Given the description of an element on the screen output the (x, y) to click on. 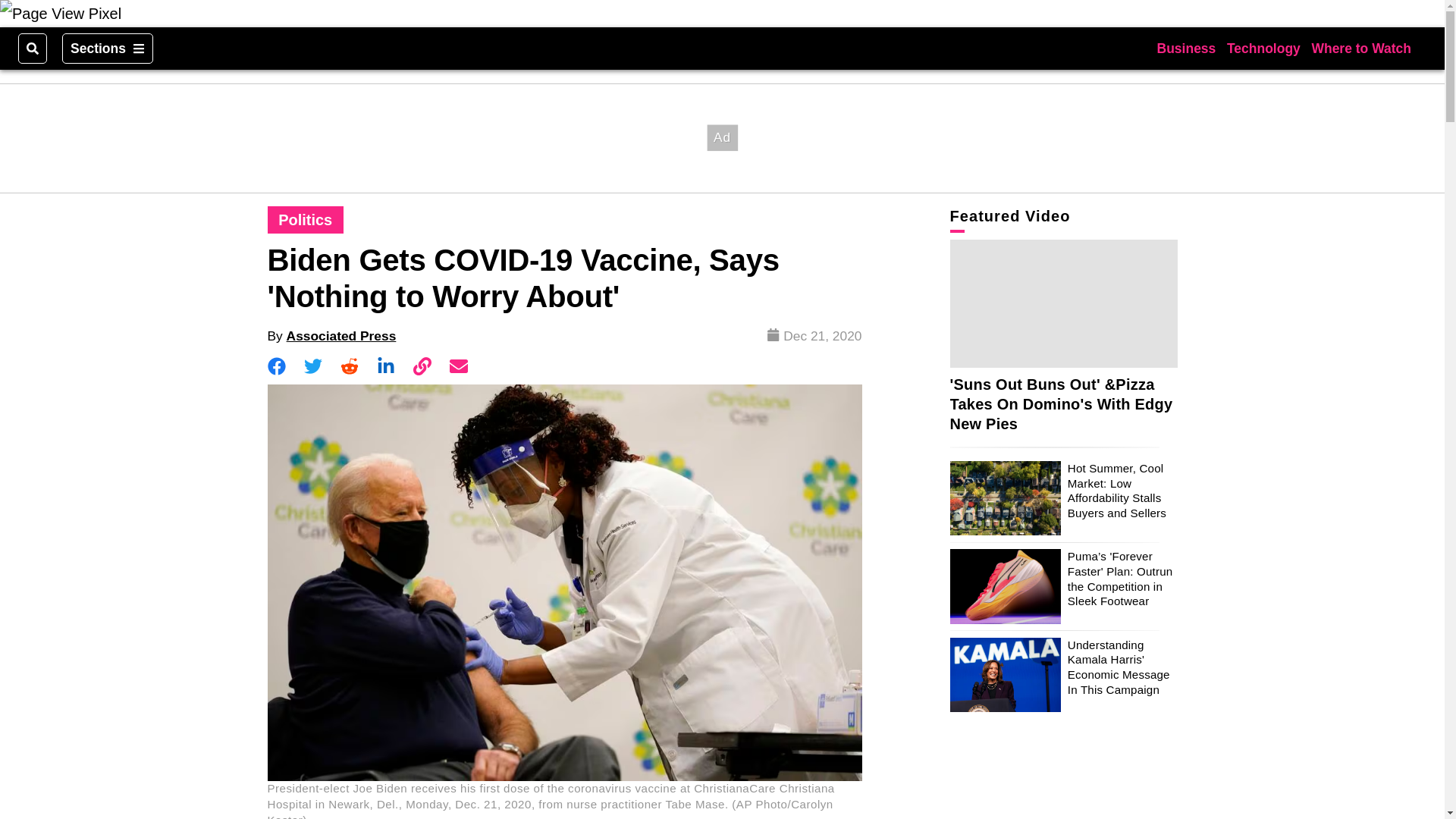
Business (1186, 48)
Sections (107, 48)
Where to Watch (1360, 48)
Politics (304, 219)
Technology (1263, 48)
Associated Press (341, 335)
